Given the description of an element on the screen output the (x, y) to click on. 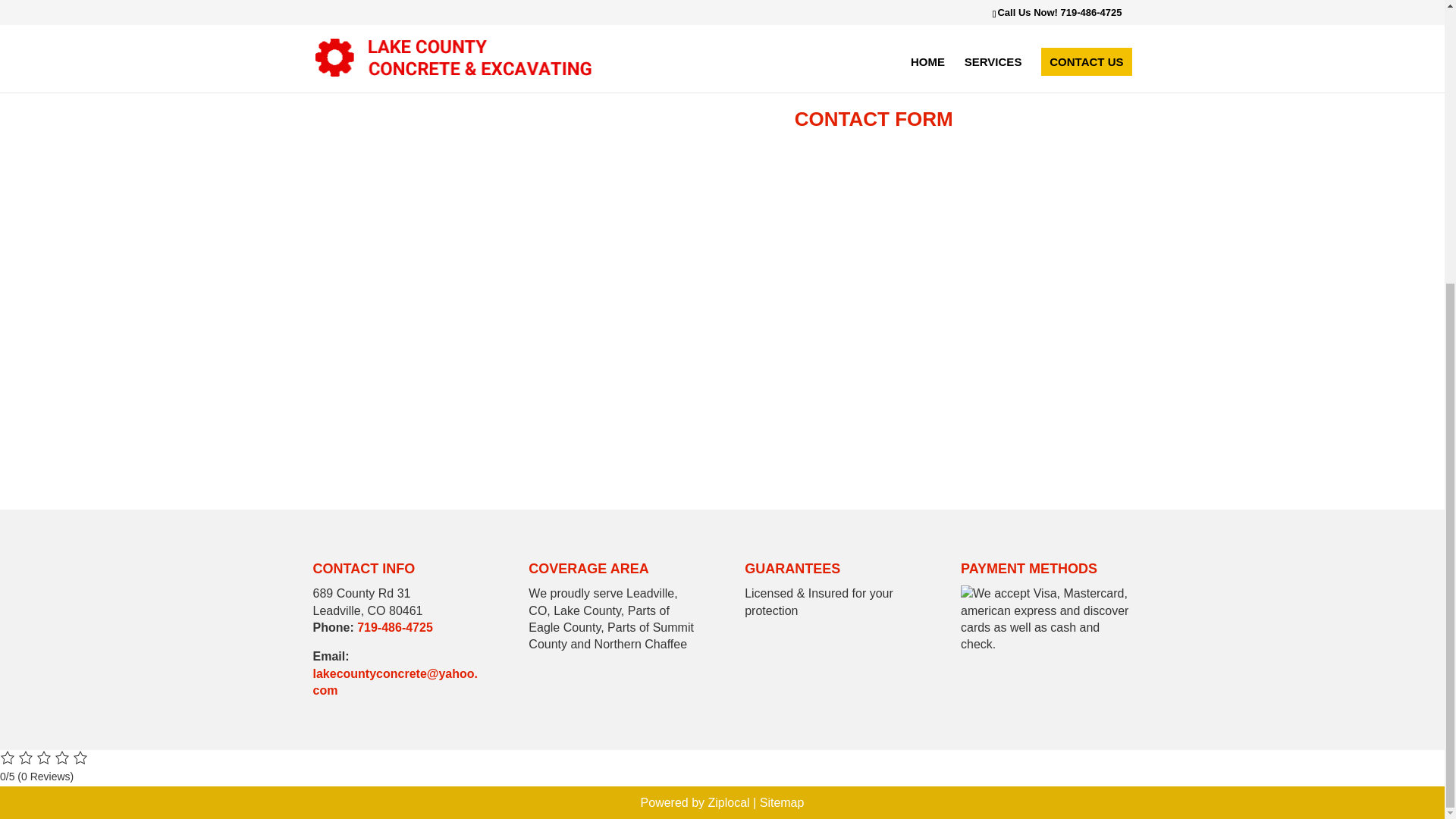
Powered by Ziplocal (694, 802)
Sitemap (782, 802)
719-486-4725 (394, 626)
